Given the description of an element on the screen output the (x, y) to click on. 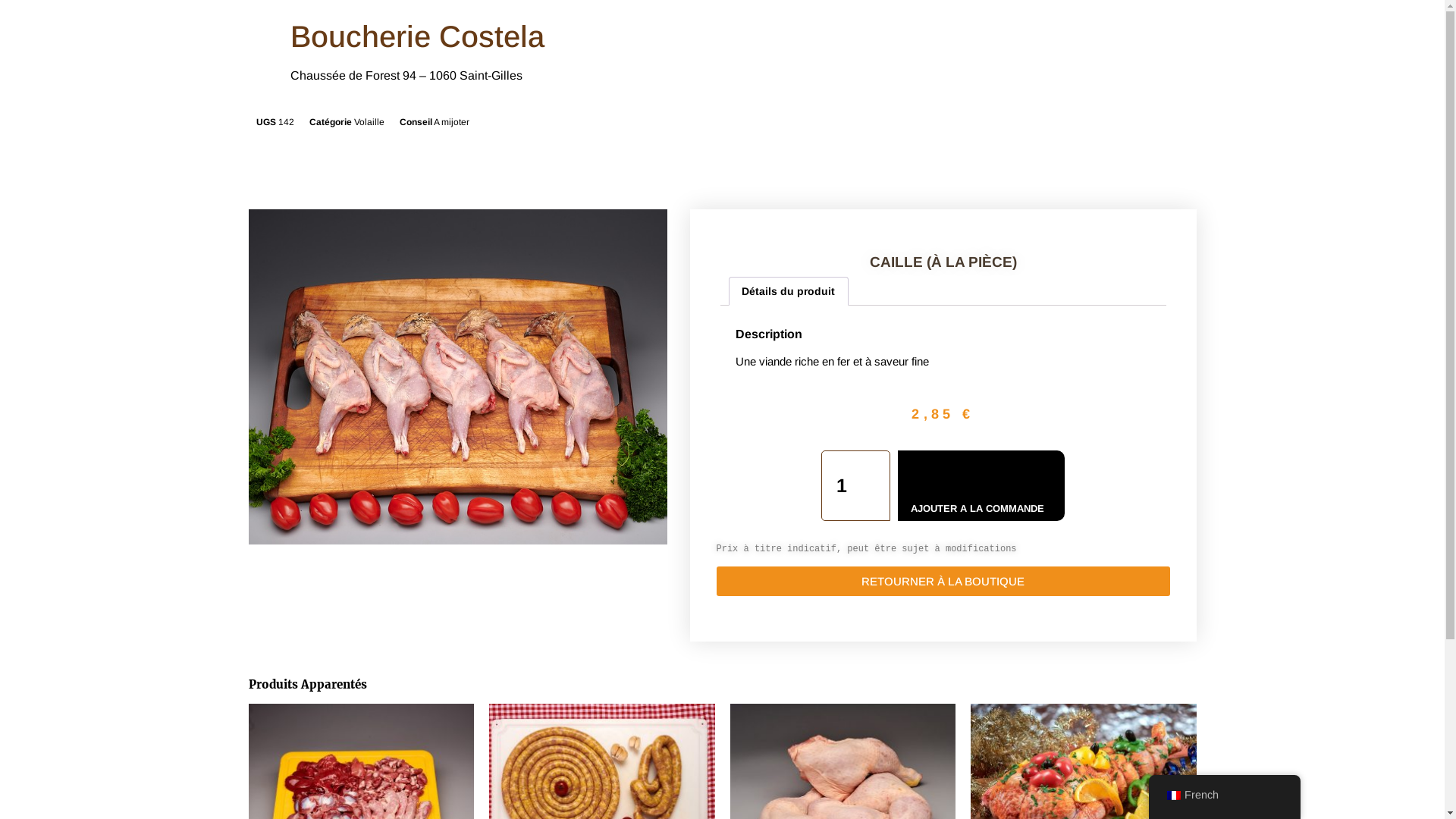
A mijoter Element type: text (451, 121)
Boucherie Costela Element type: text (416, 36)
AJOUTER A LA COMMANDE Element type: text (980, 485)
French Element type: hover (1172, 795)
Volaille Element type: text (368, 121)
French Element type: text (1223, 795)
